Given the description of an element on the screen output the (x, y) to click on. 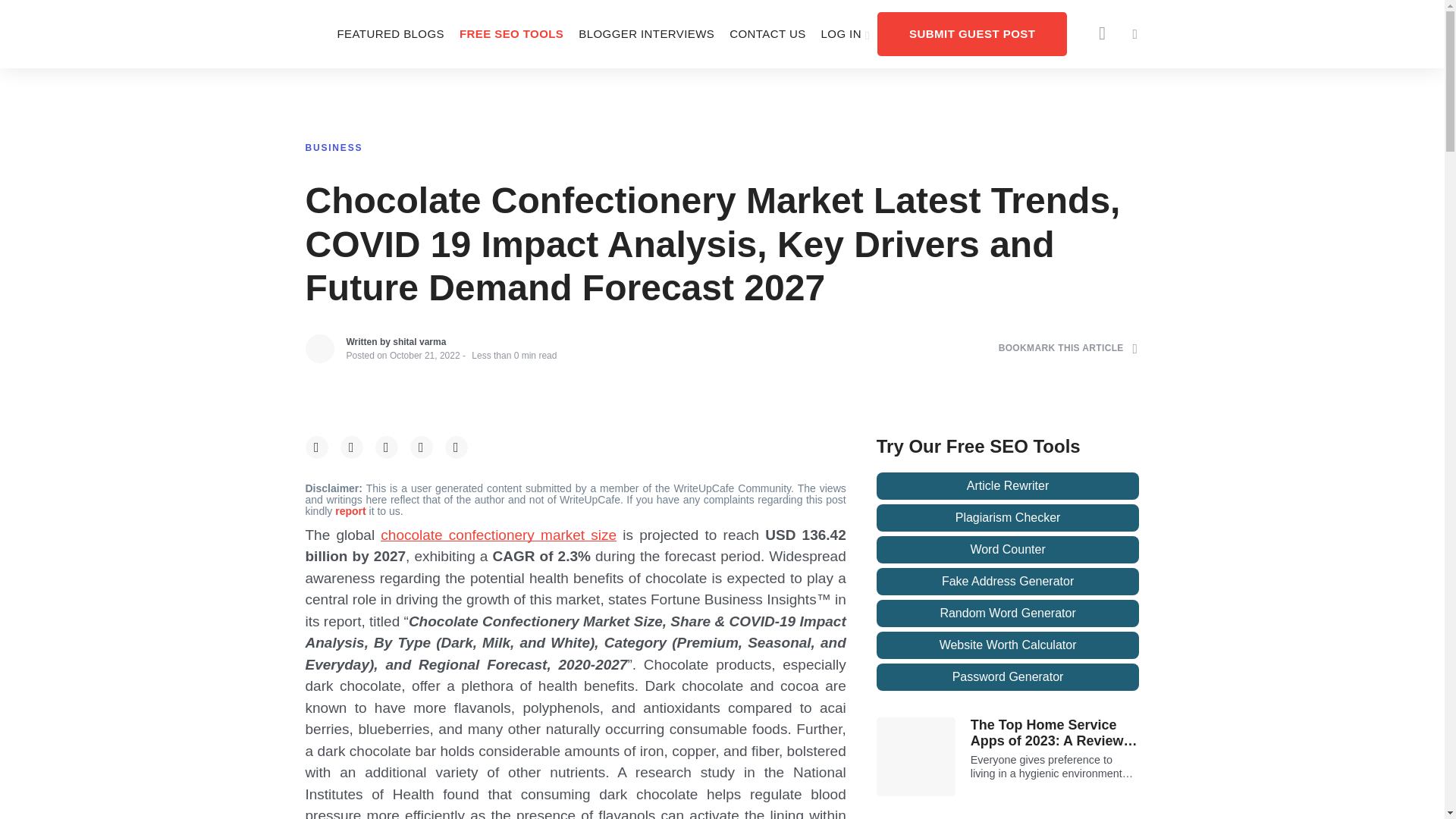
October 21, 2022 (425, 355)
FREE SEO TOOLS (510, 33)
CONTACT US (767, 33)
BLOGGER INTERVIEWS (646, 33)
Plagiarism Checker (1008, 517)
LOG IN (845, 33)
The Top Home Service Apps of 2023: A Review and Comparison (1055, 733)
FREE SEO TOOLS (510, 33)
chocolate confectionery market size (497, 534)
CONTACT US (767, 33)
FEATURED BLOGS (390, 33)
report (351, 510)
LOG IN (845, 33)
Article Rewriter (1008, 485)
SUBMIT GUEST POST (972, 33)
